Given the description of an element on the screen output the (x, y) to click on. 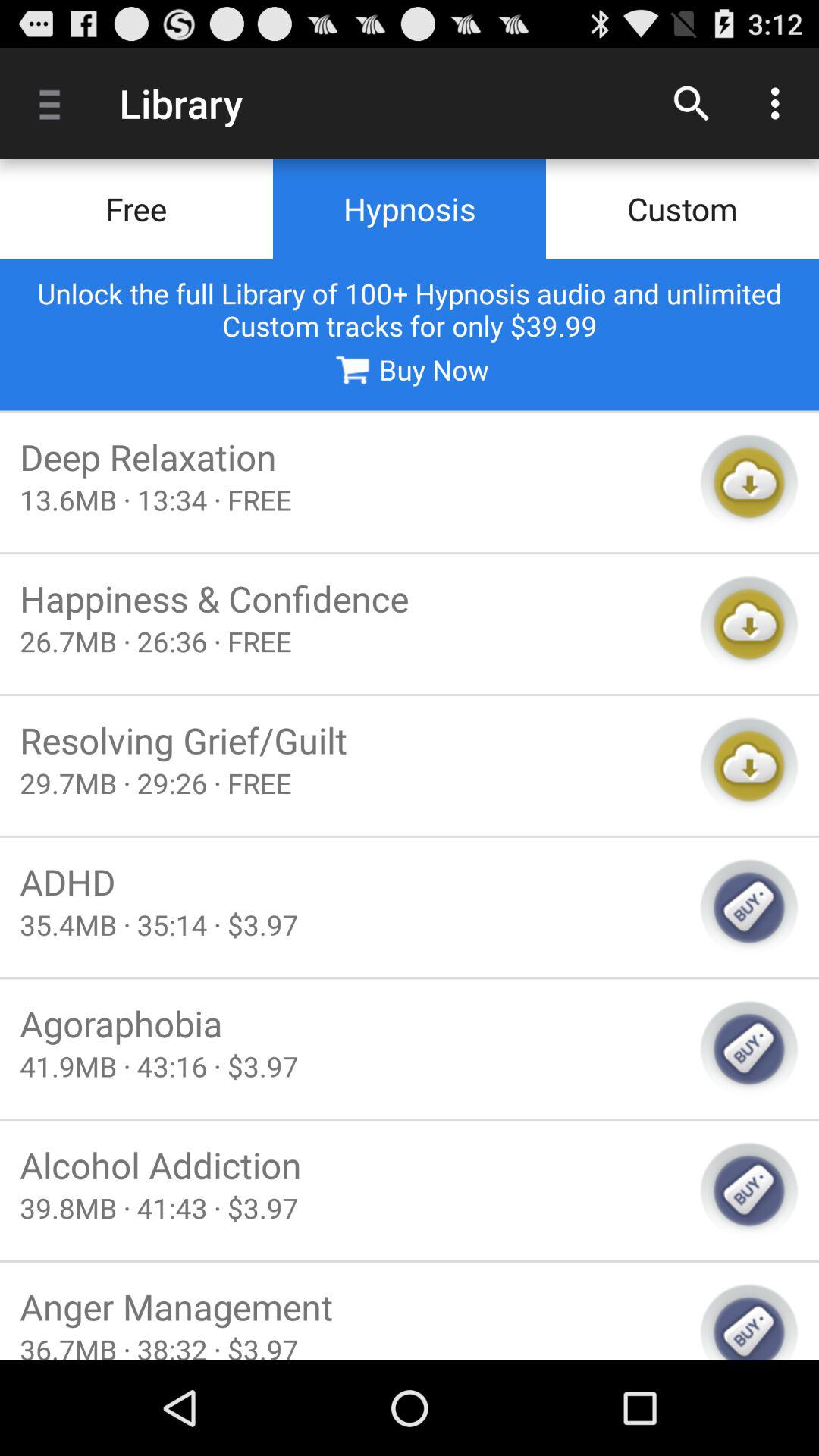
turn on item below 35 4mb 35 icon (349, 1023)
